Given the description of an element on the screen output the (x, y) to click on. 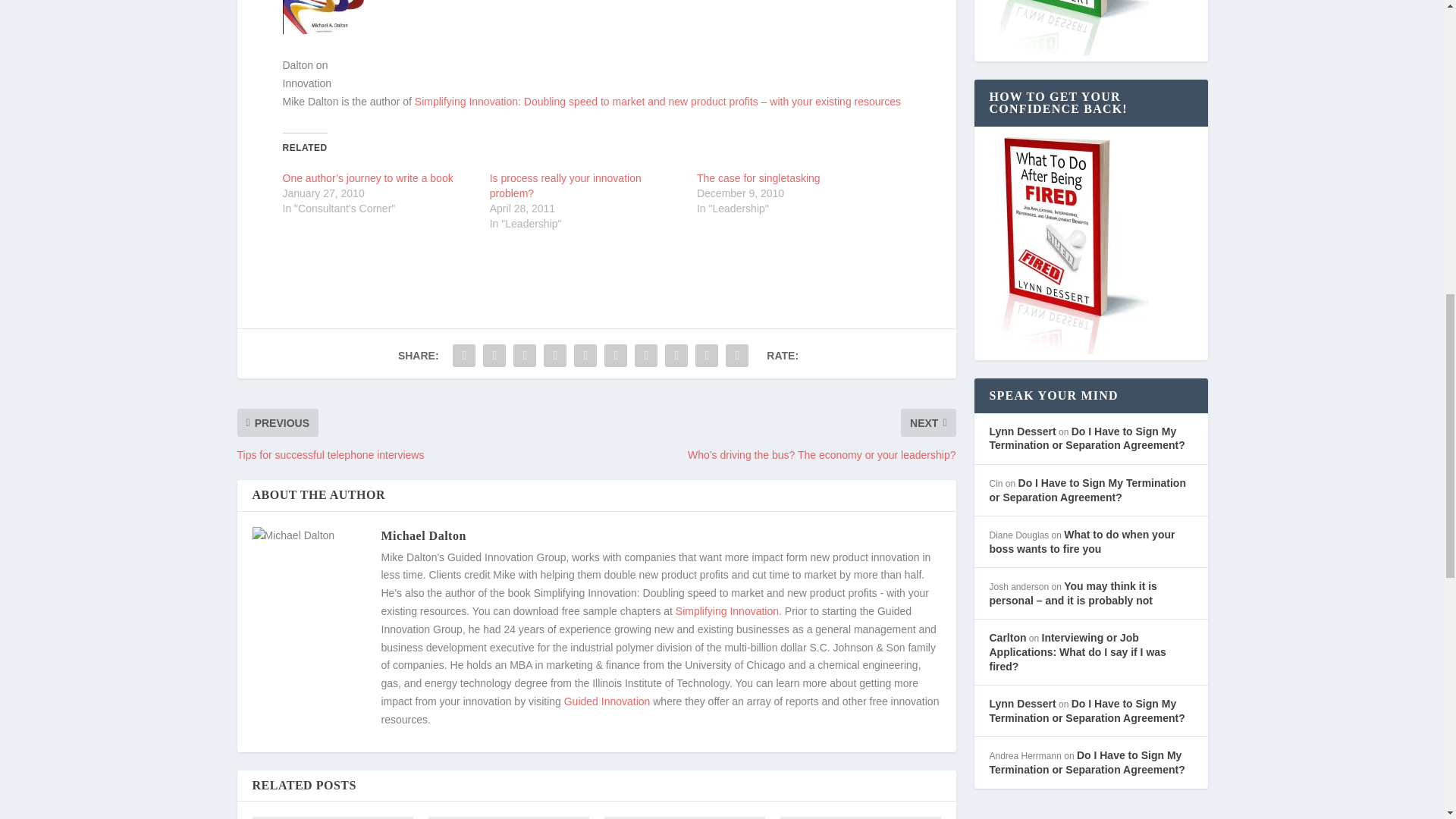
Is process really your innovation problem? (565, 185)
The case for singletasking (759, 177)
